Given the description of an element on the screen output the (x, y) to click on. 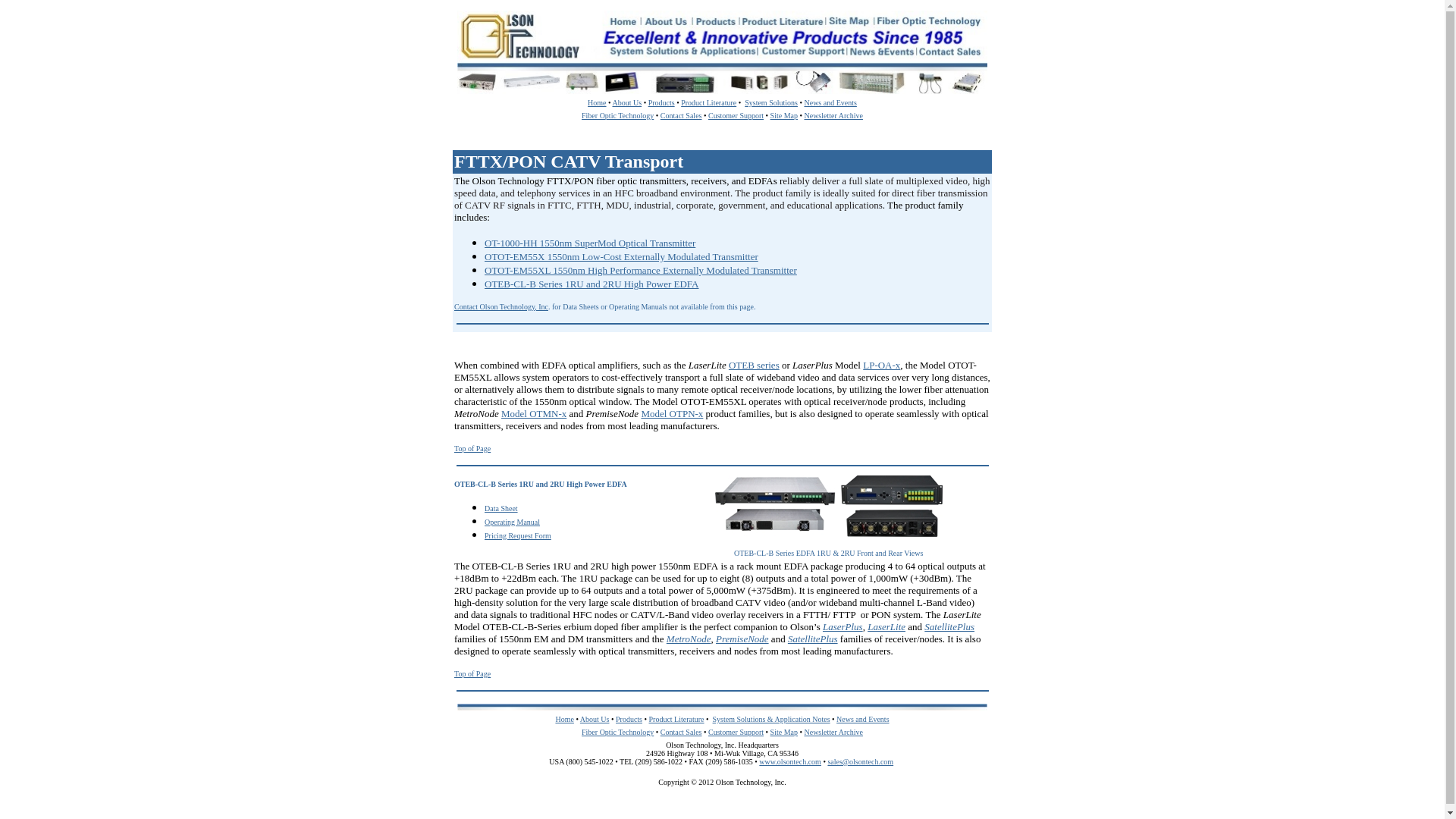
System Solutions (770, 102)
Model OTMN-x (533, 413)
Top of Page (472, 448)
Pricing Request Form (517, 534)
OTOT-EM55X 1550nm Low-Cost Externally Modulated Transmitter (621, 256)
OT-1000-HH 1550nm SuperMod Optical Transmitter (589, 242)
LP-OA-x (881, 365)
LaserPlus (842, 626)
Operating Manual (512, 520)
Top of Page (472, 673)
LaserLite (886, 626)
SatellitePlus (812, 638)
Product Literature (708, 102)
OTEB-CL-B Series 1RU and 2RU High Power EDFA (591, 283)
